Given the description of an element on the screen output the (x, y) to click on. 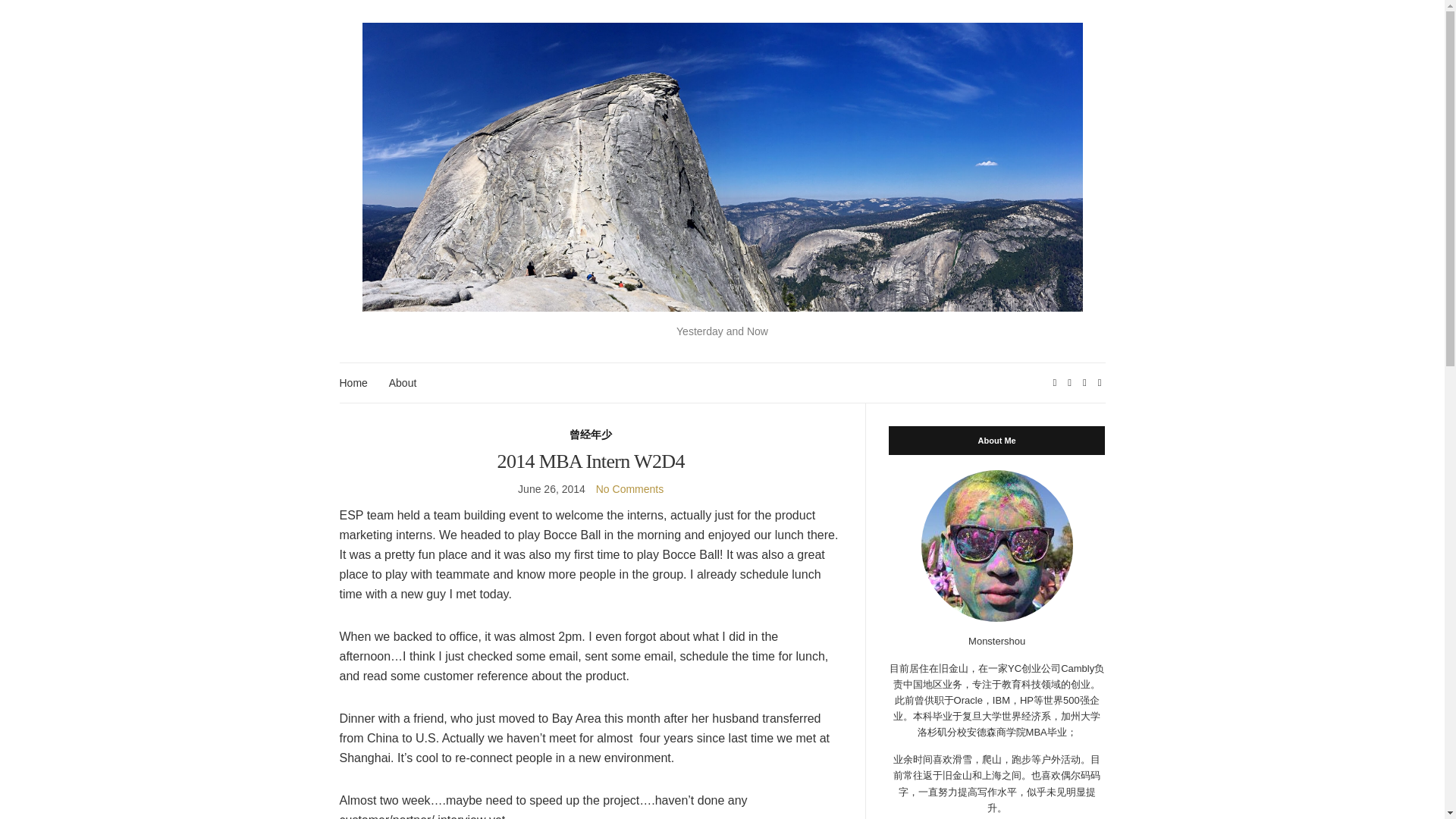
No Comments (629, 489)
Home (353, 383)
About (402, 383)
